Given the description of an element on the screen output the (x, y) to click on. 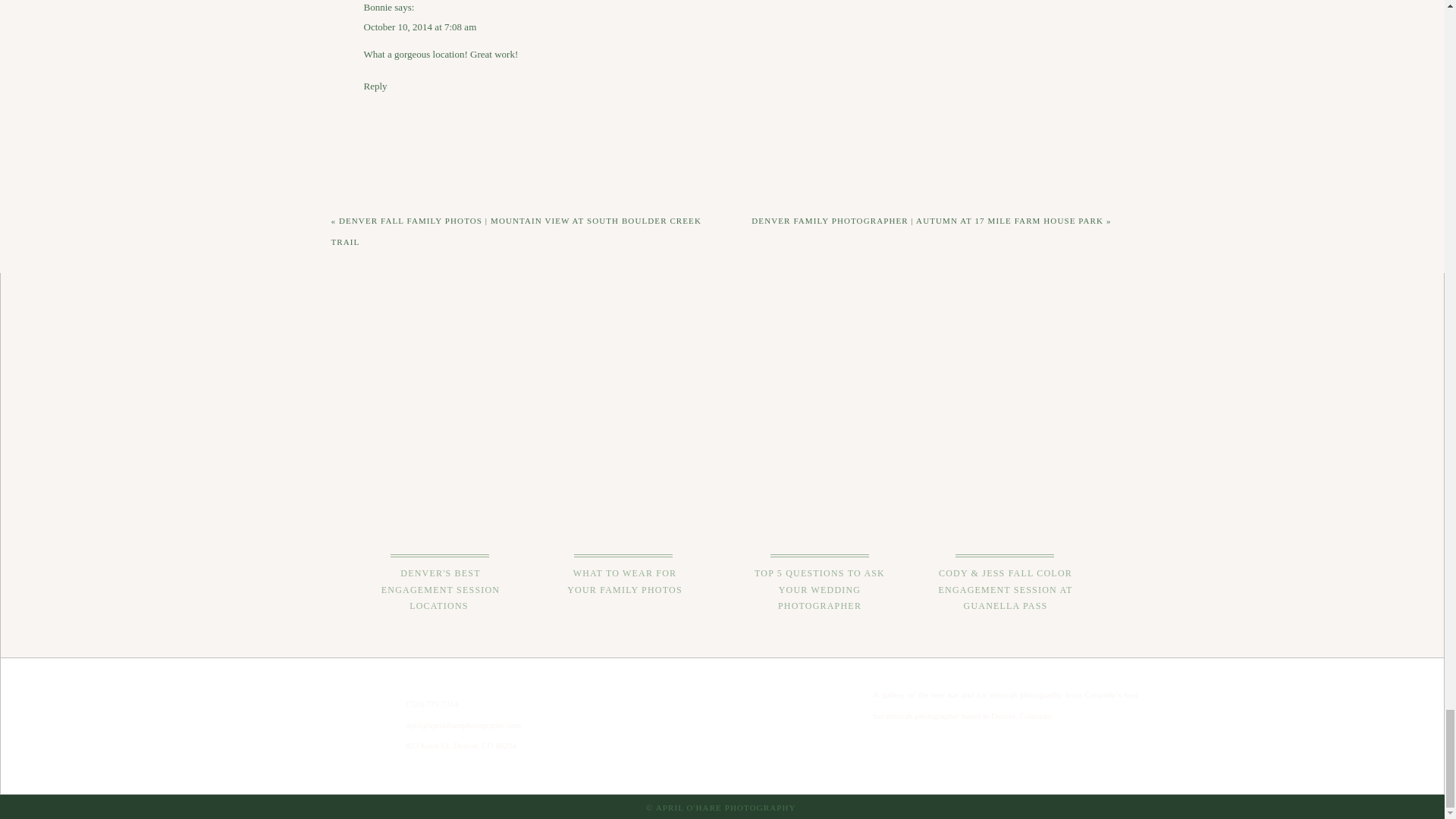
Bonnie (378, 7)
TOP 5 QUESTIONS TO ASK YOUR WEDDING PHOTOGRAPHER (820, 590)
October 10, 2014 at 7:08 am (420, 26)
Reply (375, 85)
